Given the description of an element on the screen output the (x, y) to click on. 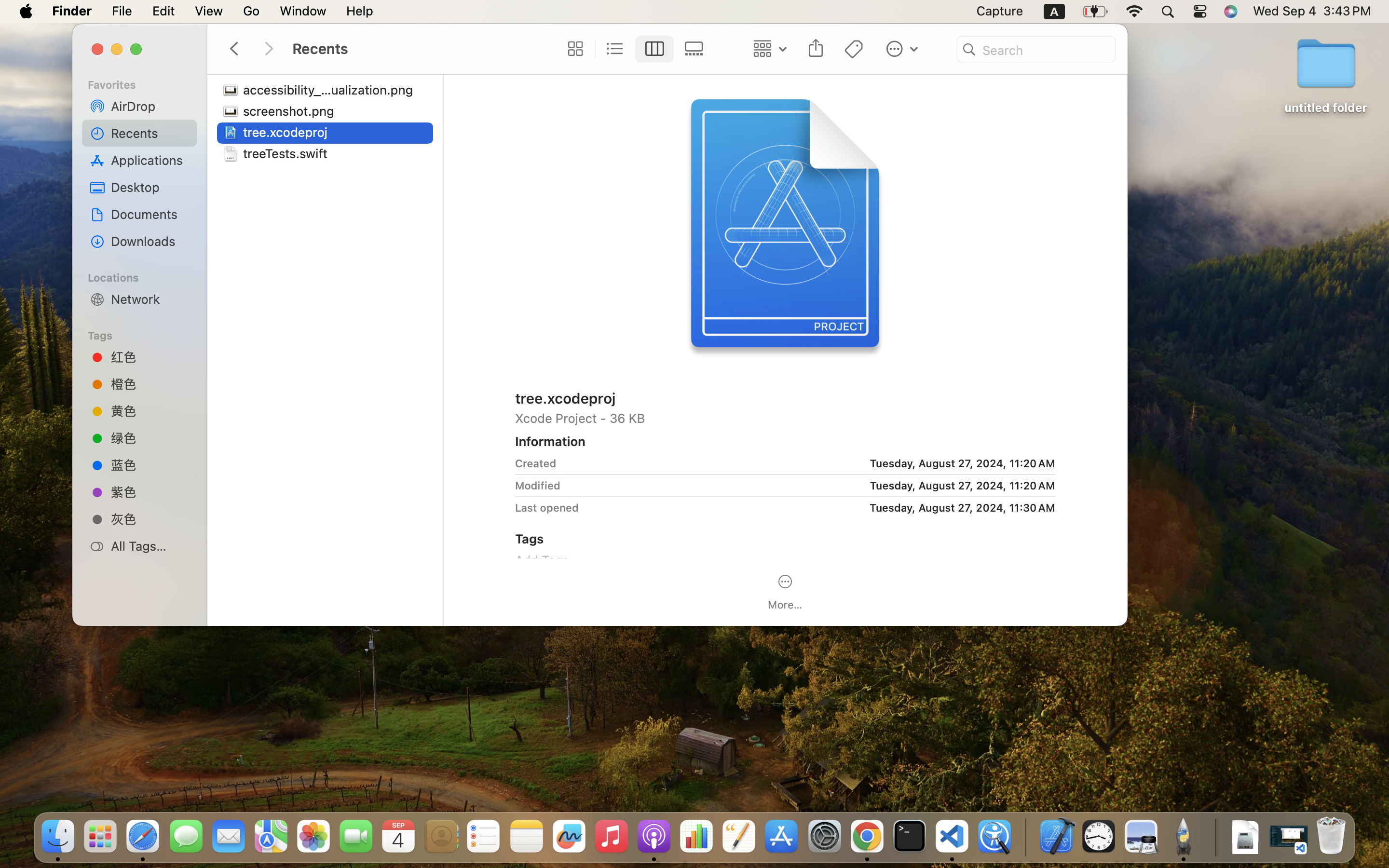
treeTests.swift Element type: AXTextField (287, 153)
Applications Element type: AXStaticText (149, 159)
Modified Element type: AXStaticText (537, 484)
Created Element type: AXStaticText (535, 462)
Last opened Element type: AXStaticText (546, 507)
